Given the description of an element on the screen output the (x, y) to click on. 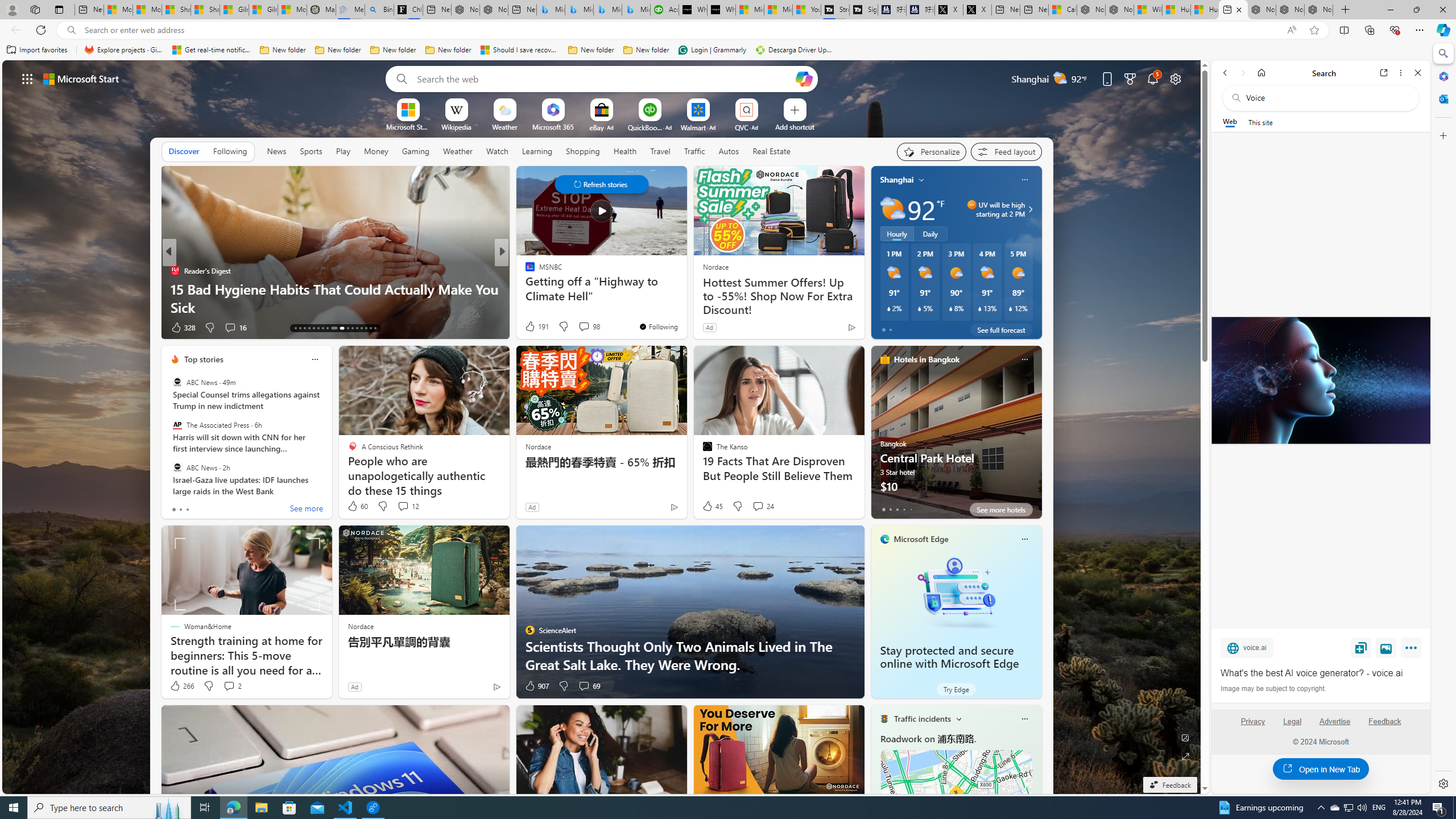
More (1413, 649)
ABC News (176, 466)
Class: weather-current-precipitation-glyph (1011, 308)
AutomationID: tab-26 (361, 328)
Privacy (1252, 725)
View comments 24 Comment (762, 505)
Favorites bar (715, 49)
